Given the description of an element on the screen output the (x, y) to click on. 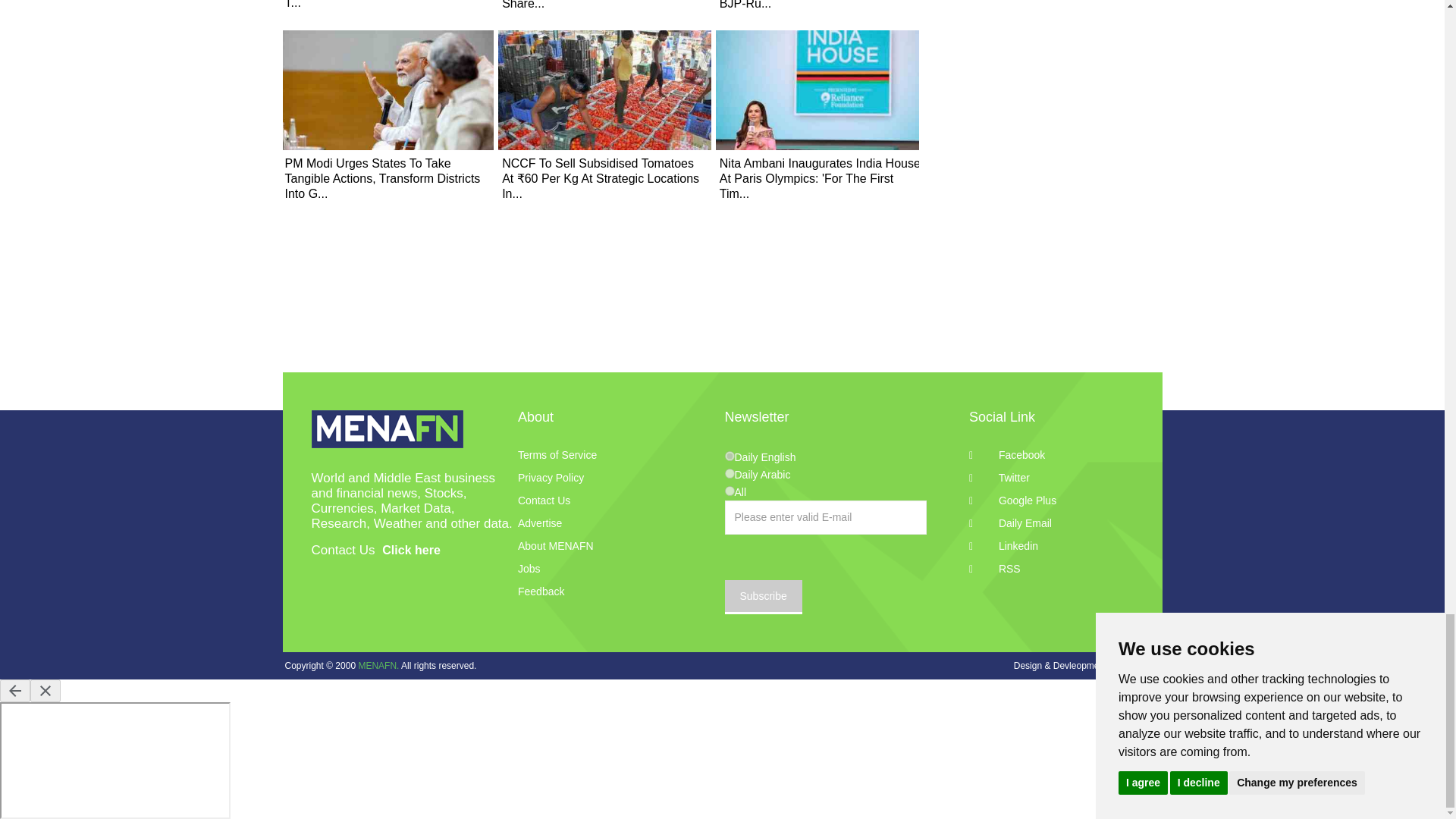
Subscribe (763, 596)
